Given the description of an element on the screen output the (x, y) to click on. 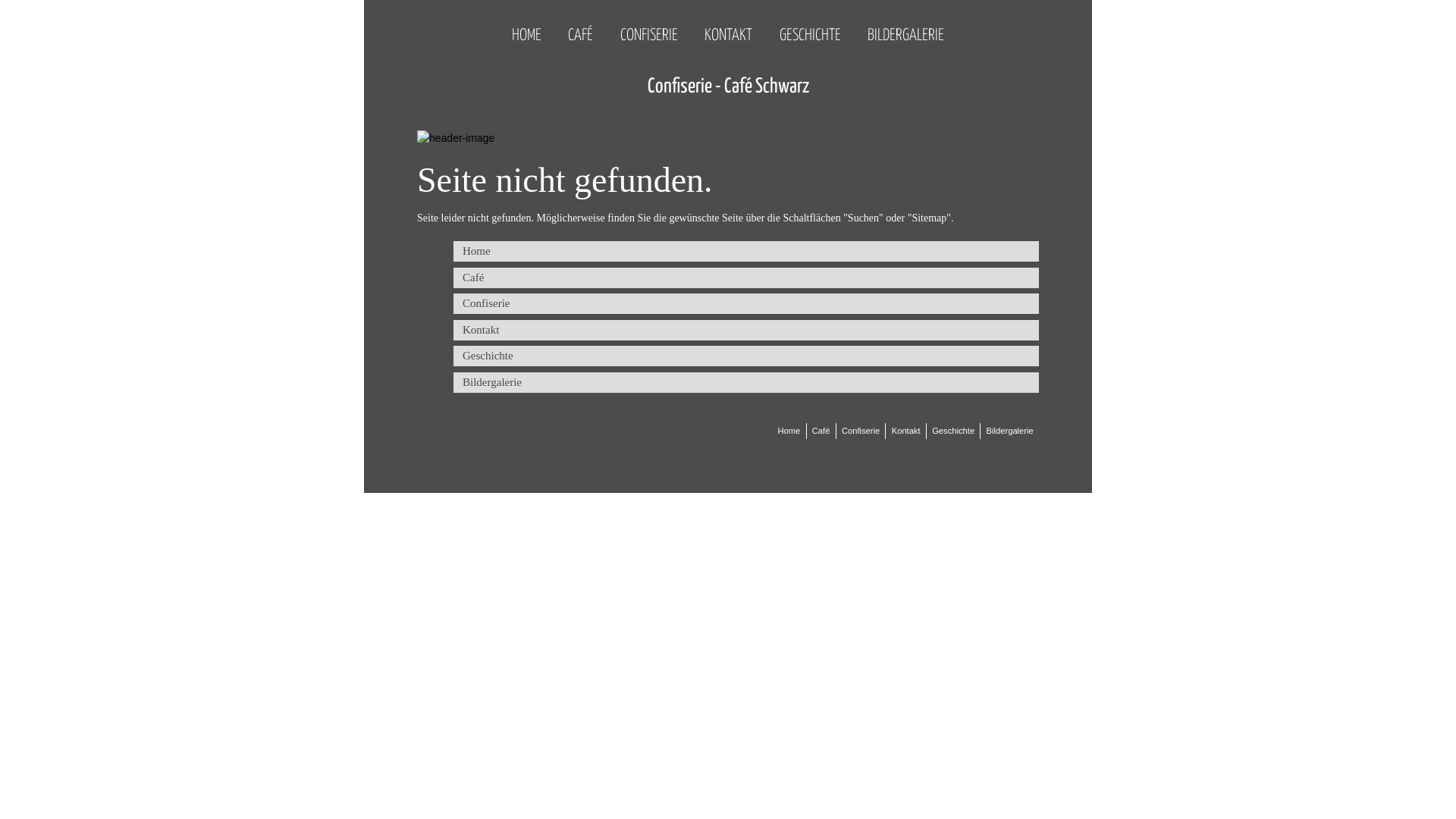
KONTAKT Element type: text (728, 26)
CONFISERIE Element type: text (648, 26)
Bildergalerie Element type: text (1009, 431)
GESCHICHTE Element type: text (810, 26)
Kontakt Element type: text (745, 330)
Bildergalerie Element type: text (745, 382)
Home Element type: text (745, 251)
Geschichte Element type: text (953, 431)
Home Element type: text (788, 431)
Confiserie Element type: text (745, 303)
Geschichte Element type: text (745, 355)
Confiserie Element type: text (860, 431)
Kontakt Element type: text (906, 431)
BILDERGALERIE Element type: text (905, 26)
HOME Element type: text (526, 26)
